Given the description of an element on the screen output the (x, y) to click on. 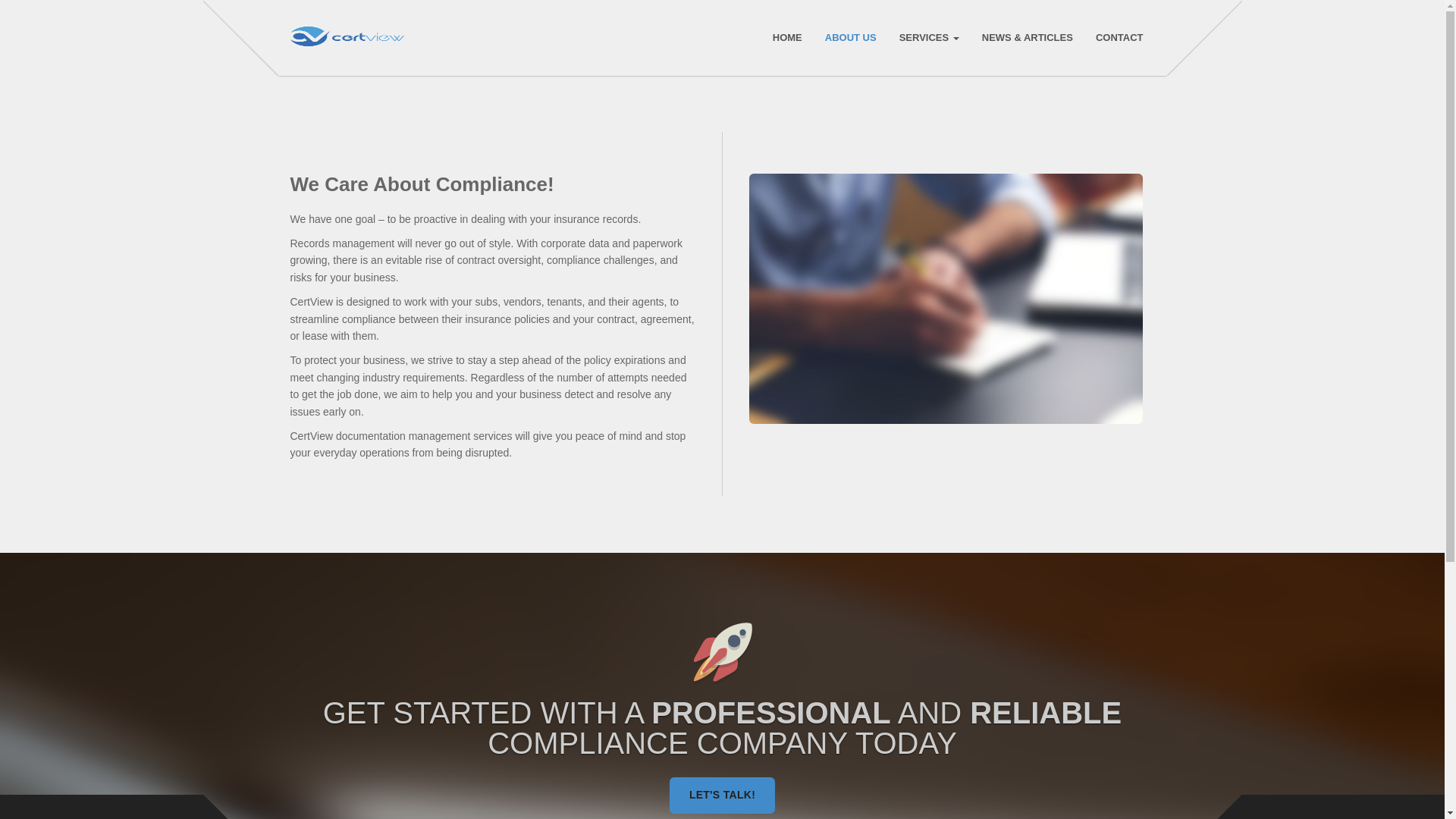
LET'S TALK! (721, 795)
HOME (786, 38)
Contact (1119, 38)
Let's Talk! (721, 795)
SERVICES (928, 38)
Home (786, 38)
CONTACT (1119, 38)
ABOUT US (850, 38)
SERVICES (928, 38)
ABOUT US (850, 38)
